Given the description of an element on the screen output the (x, y) to click on. 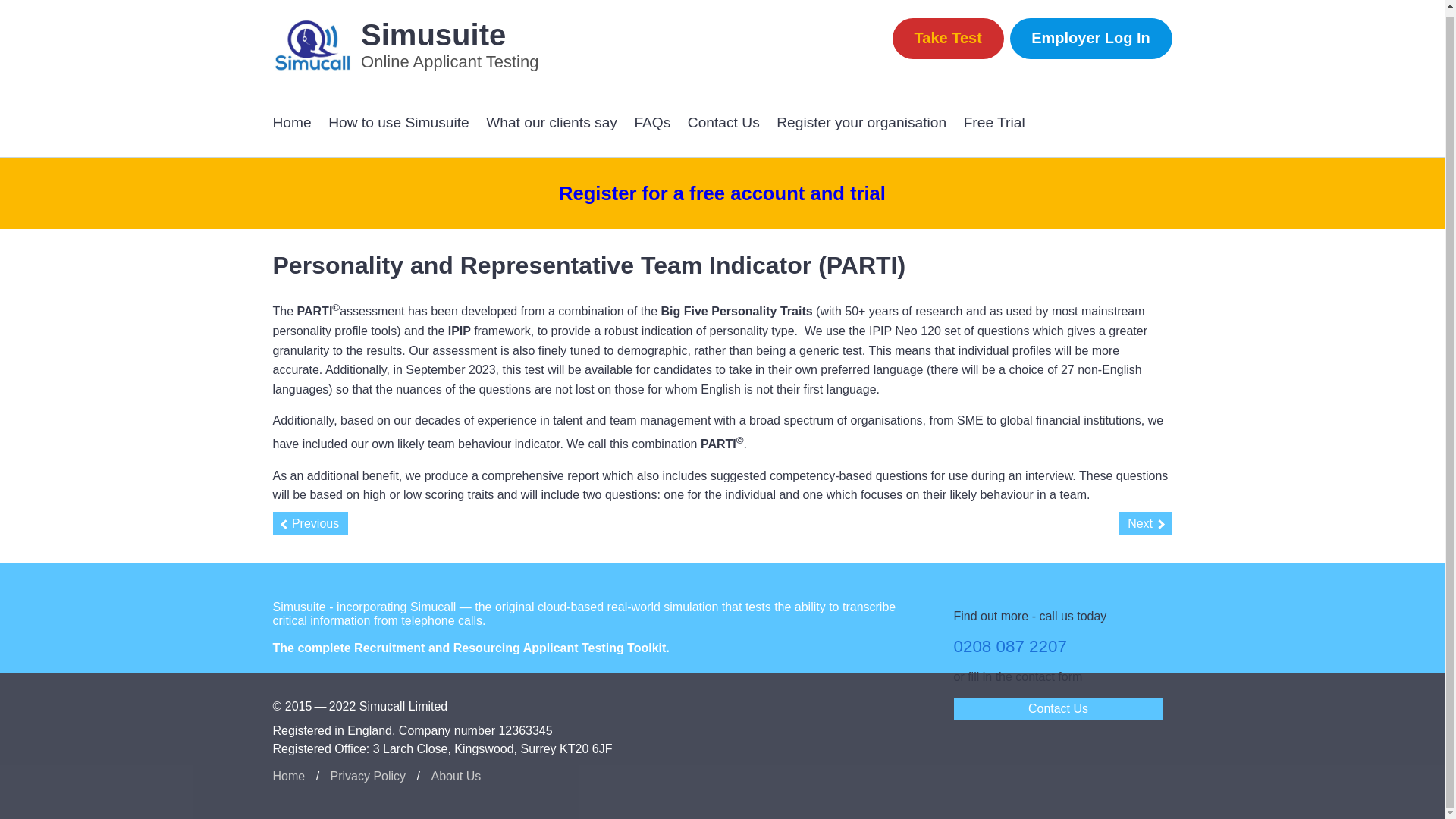
Take Test (948, 38)
0208 087 2207 (1010, 646)
Privacy Policy (368, 776)
Free Trial (994, 123)
Home (292, 123)
How to use Simusuite (398, 123)
Employer Log In (1091, 38)
Previous (311, 523)
Contact Us (1058, 708)
FAQs (651, 123)
Register for a free account and trial (722, 192)
About Us (455, 776)
Next (1145, 523)
Contact Us (723, 123)
Home (289, 776)
